Given the description of an element on the screen output the (x, y) to click on. 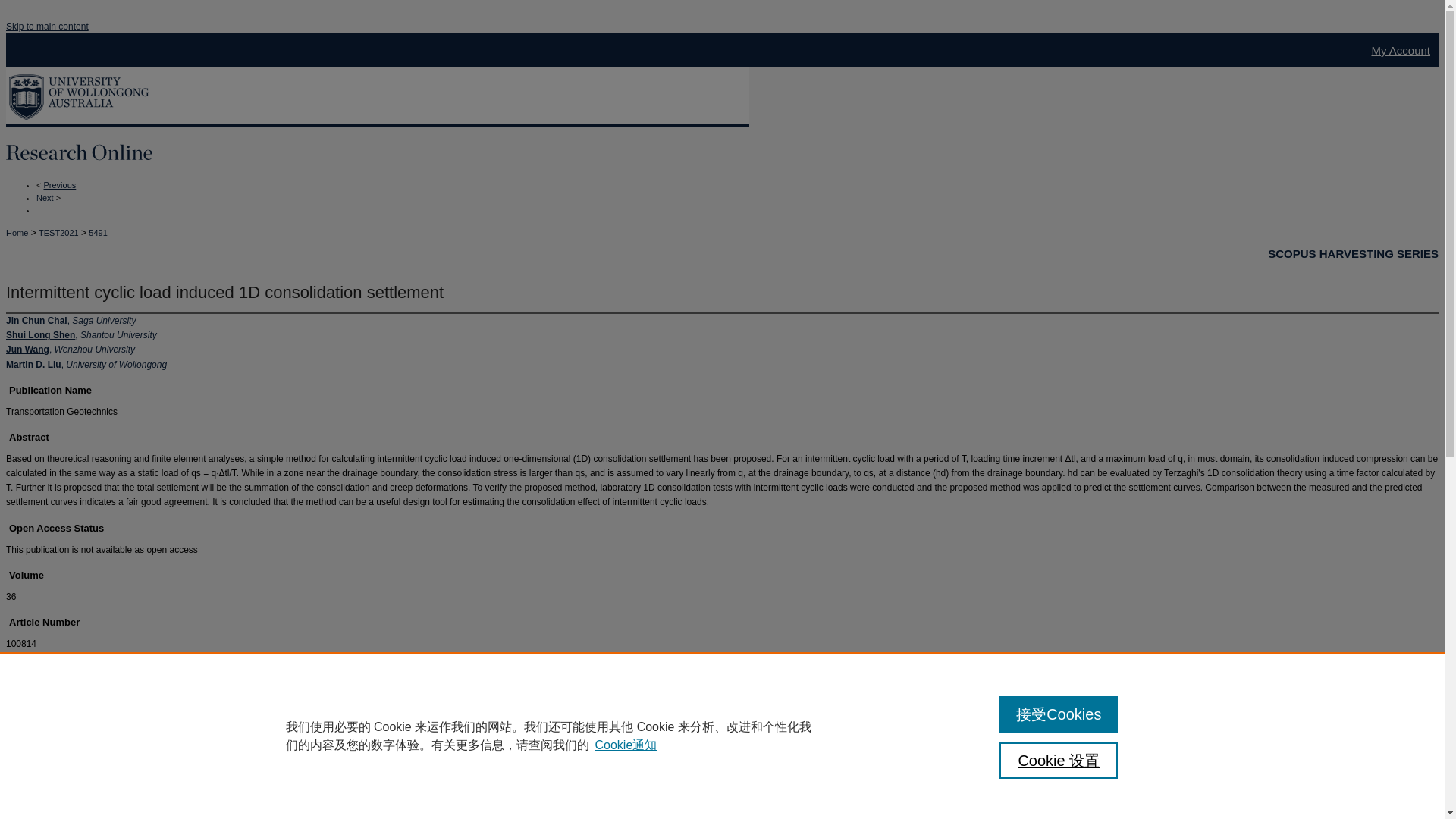
Skip to main content (46, 26)
Jun Wang, Wenzhou University (70, 348)
Link to Full Text (66, 776)
Next (44, 196)
Link opens in new window (66, 776)
Home (16, 231)
Shui Long Shen, Shantou University (81, 335)
Previous (59, 184)
Martin D. Liu, University of Wollongong (86, 364)
Jin Chun Chai, Saga University (70, 320)
TEST2021 (58, 231)
5491 (97, 231)
